Given the description of an element on the screen output the (x, y) to click on. 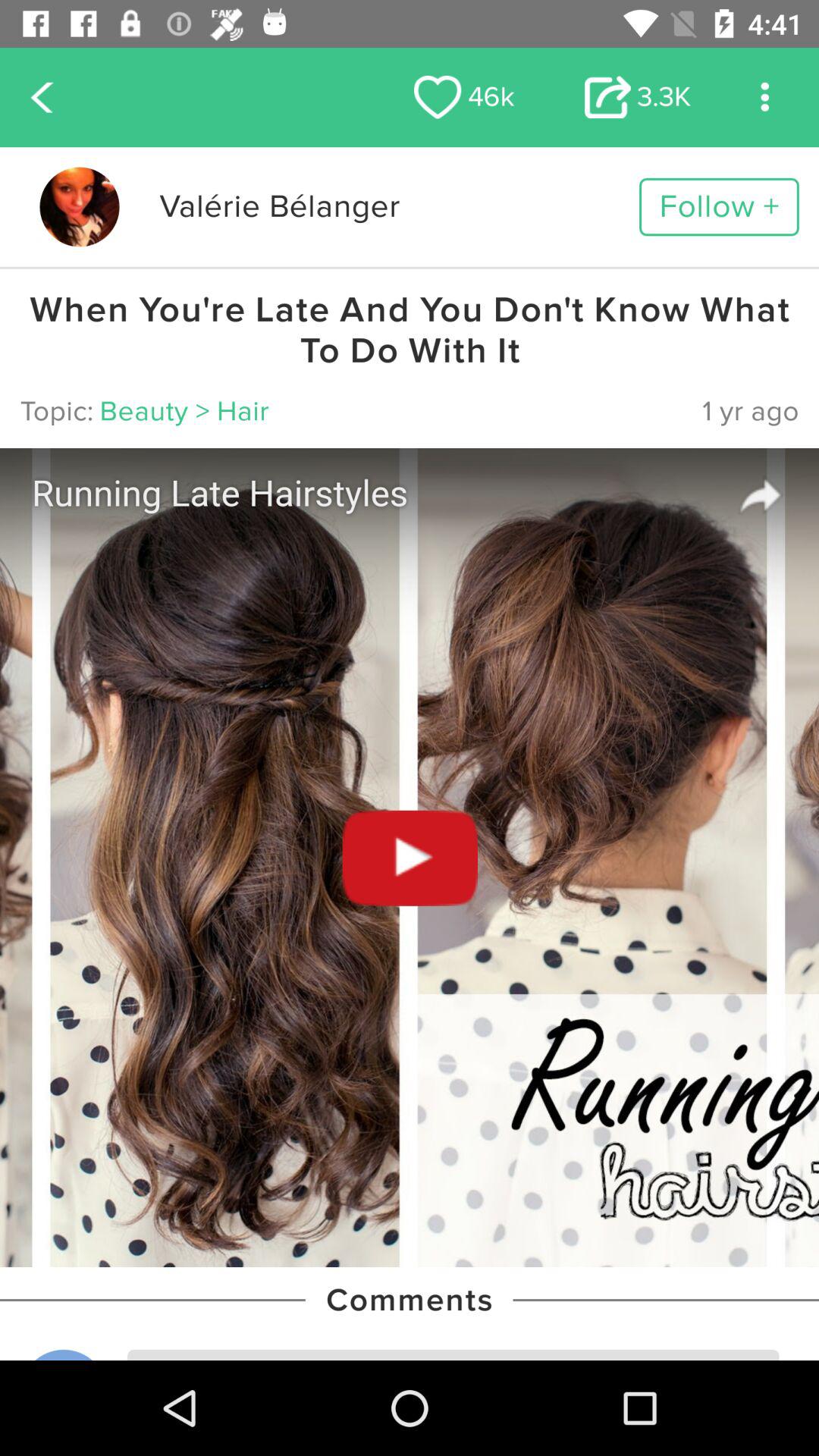
it show the display image (79, 206)
